Given the description of an element on the screen output the (x, y) to click on. 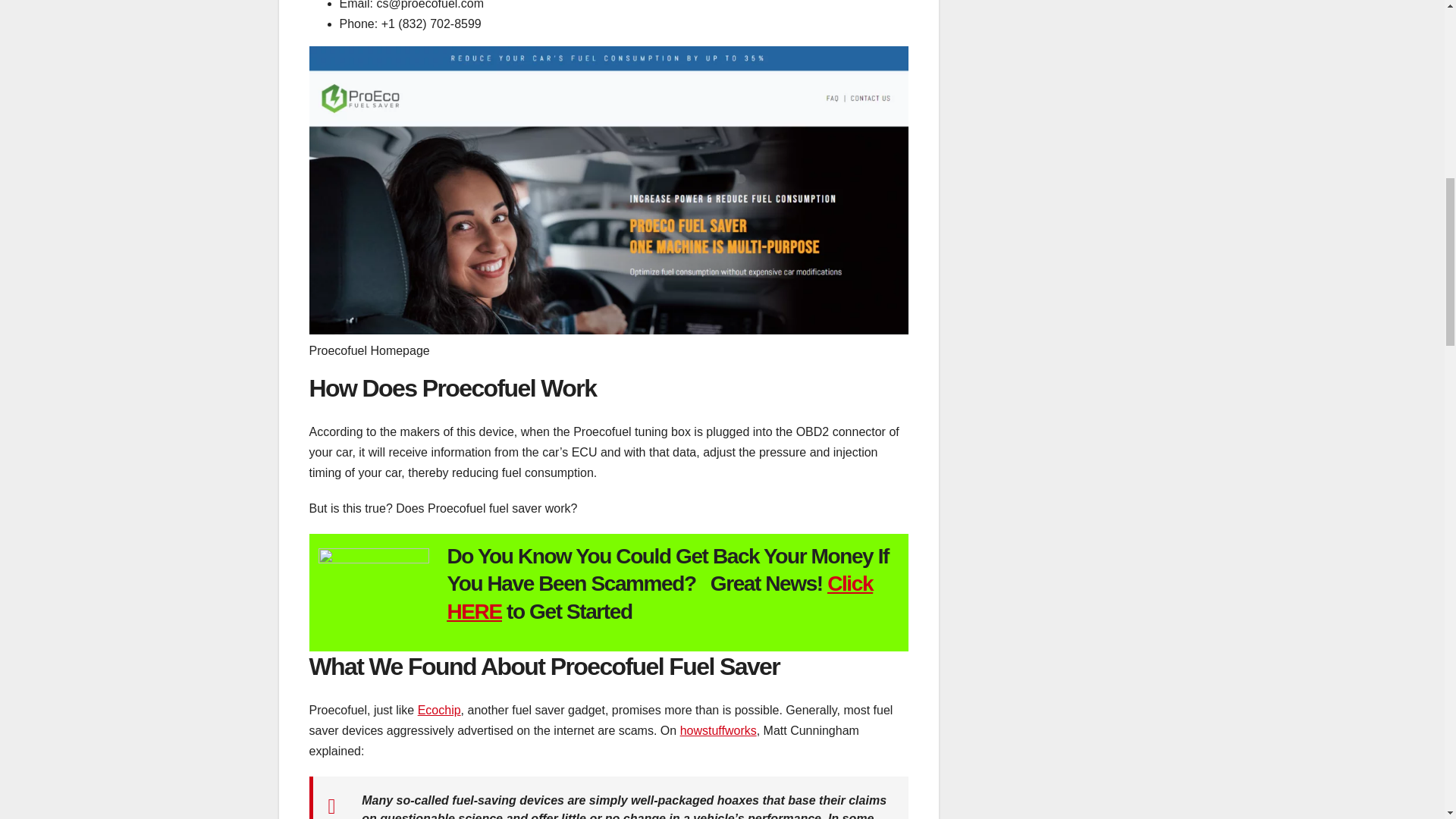
Click HERE (659, 596)
howstuffworks (718, 730)
Ecochip (439, 709)
